Given the description of an element on the screen output the (x, y) to click on. 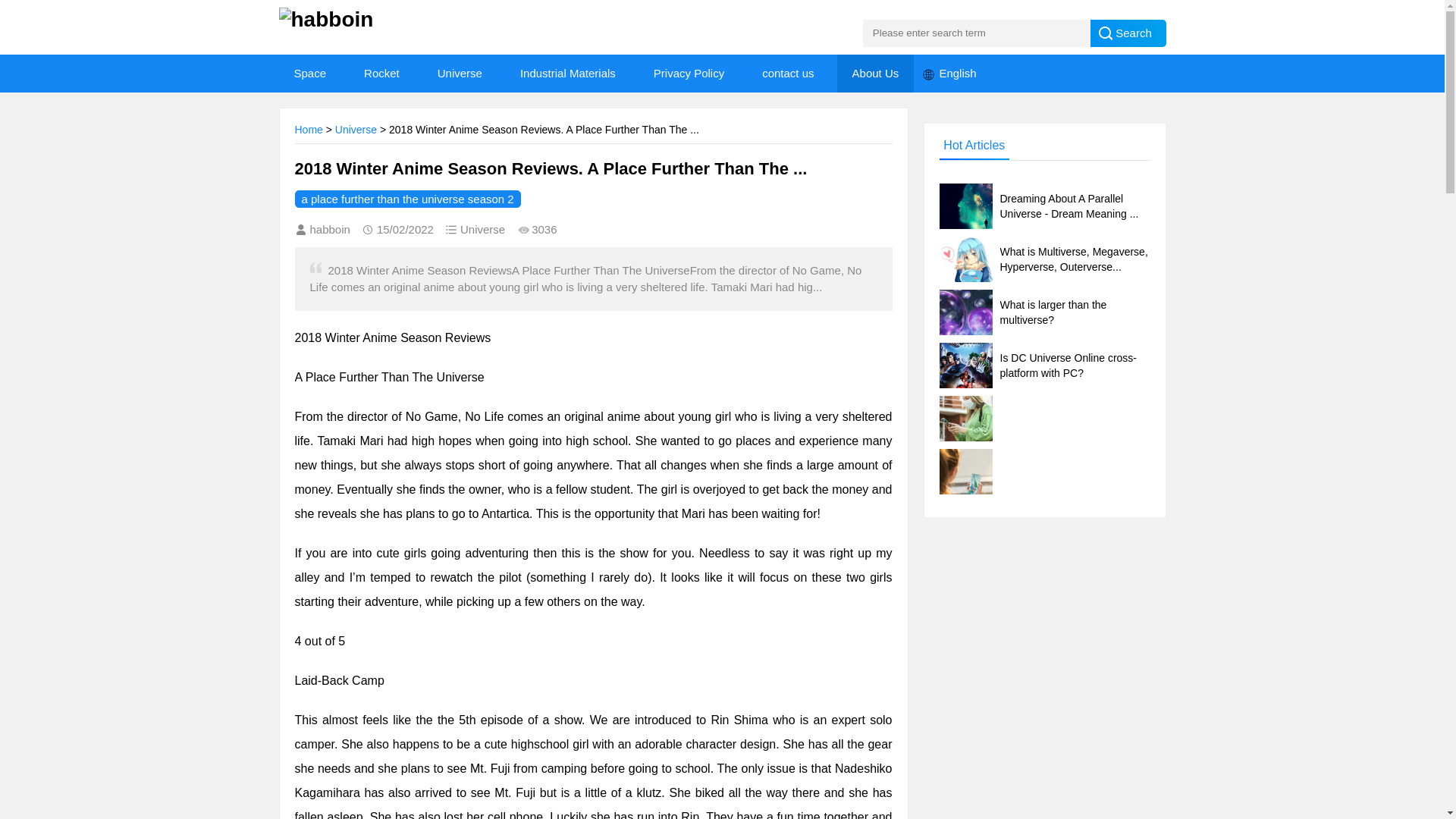
Privacy Policy (689, 73)
Search (1128, 32)
What is Multiverse, Megaverse, Hyperverse, Outerverse... (1044, 259)
What is larger than the multiverse? (1044, 312)
contact us (787, 73)
habboin (346, 19)
Industrial Materials (567, 73)
Rocket (381, 73)
Universe (459, 73)
About Us (875, 73)
